Given the description of an element on the screen output the (x, y) to click on. 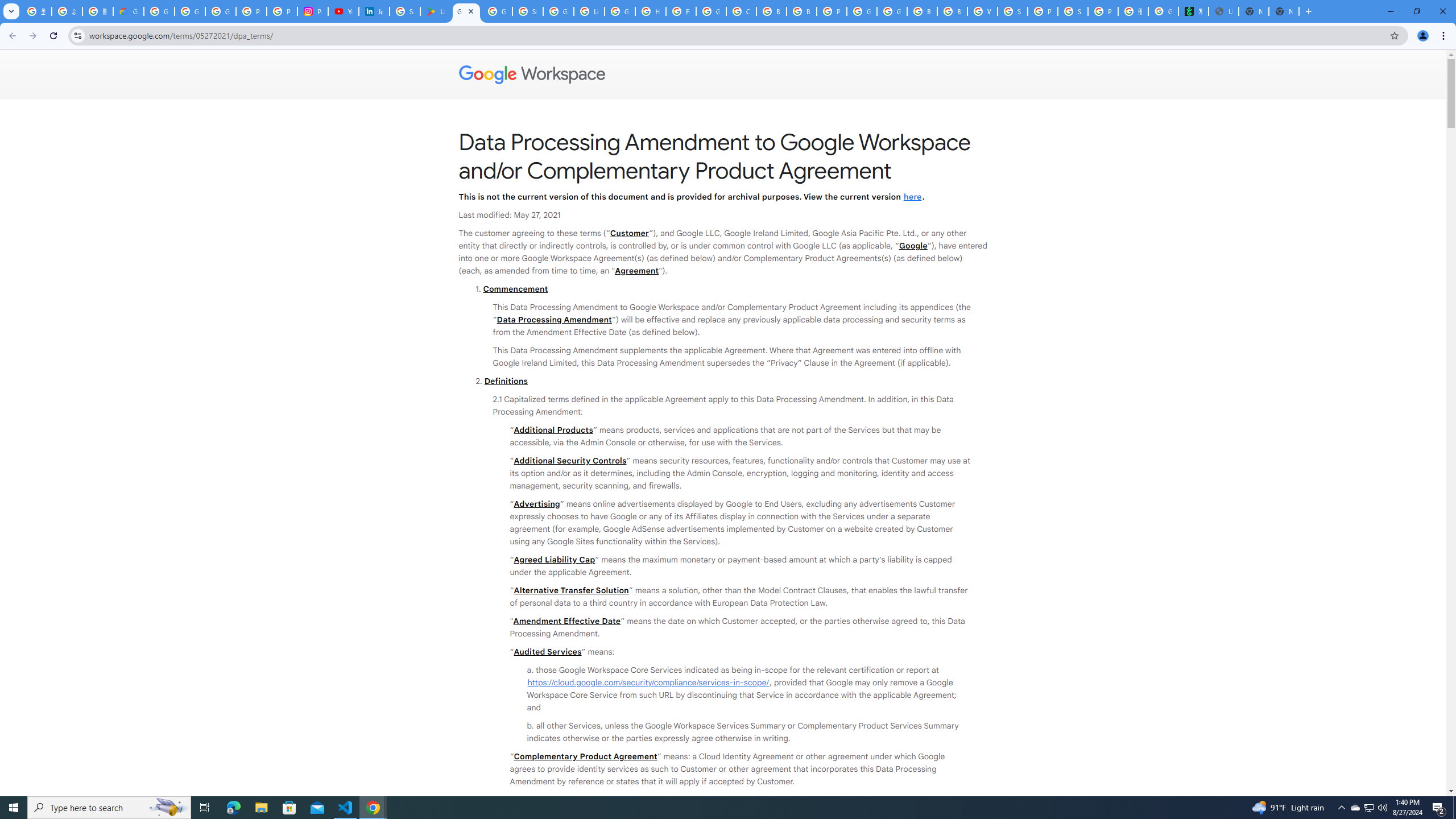
Browse Chrome as a guest - Computer - Google Chrome Help (922, 11)
Sign in - Google Accounts (404, 11)
here (912, 196)
YouTube Culture & Trends - On The Rise: Handcam Videos (343, 11)
Browse Chrome as a guest - Computer - Google Chrome Help (771, 11)
Browse Chrome as a guest - Computer - Google Chrome Help (951, 11)
